Given the description of an element on the screen output the (x, y) to click on. 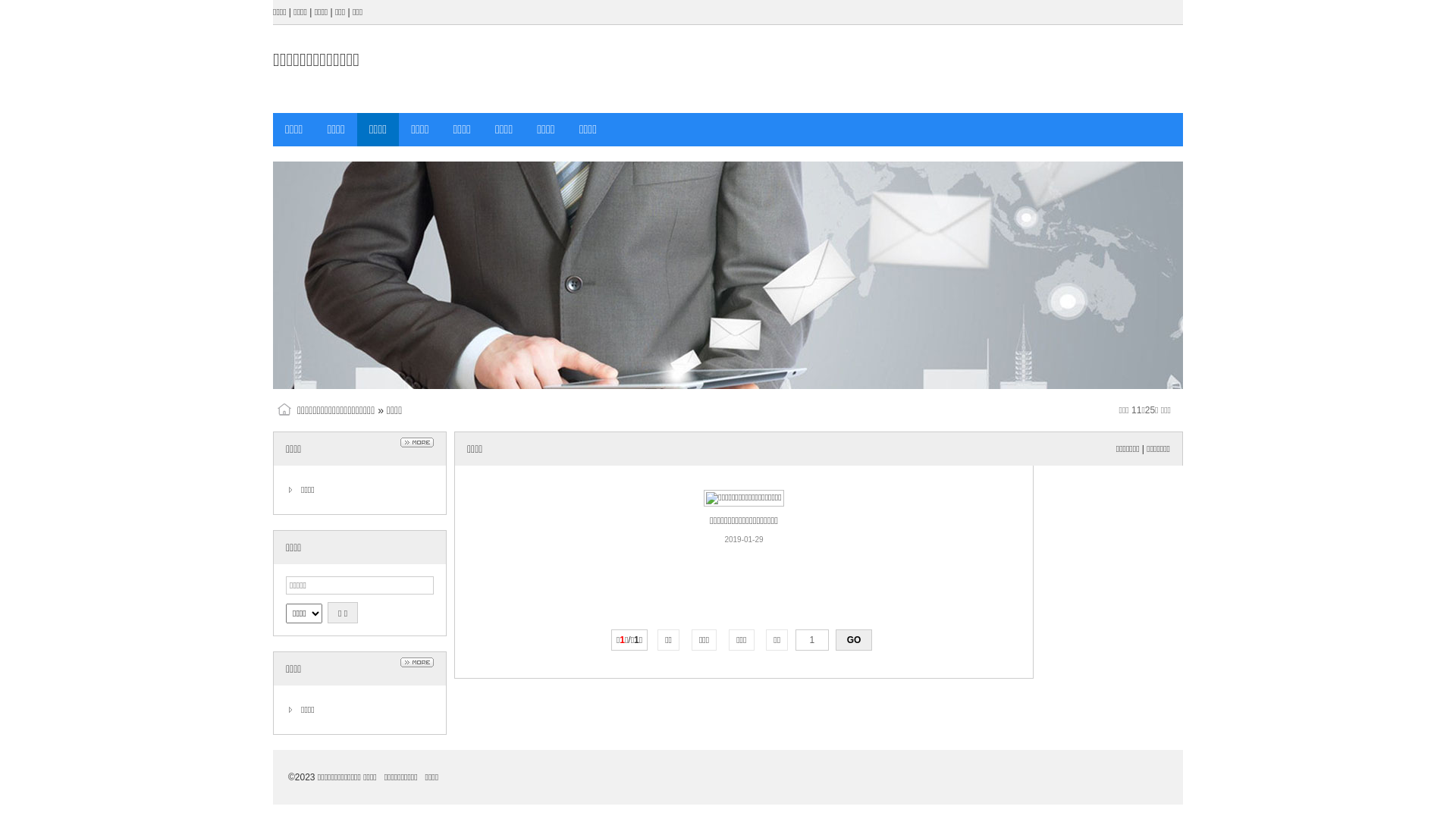
GO Element type: text (853, 639)
